Given the description of an element on the screen output the (x, y) to click on. 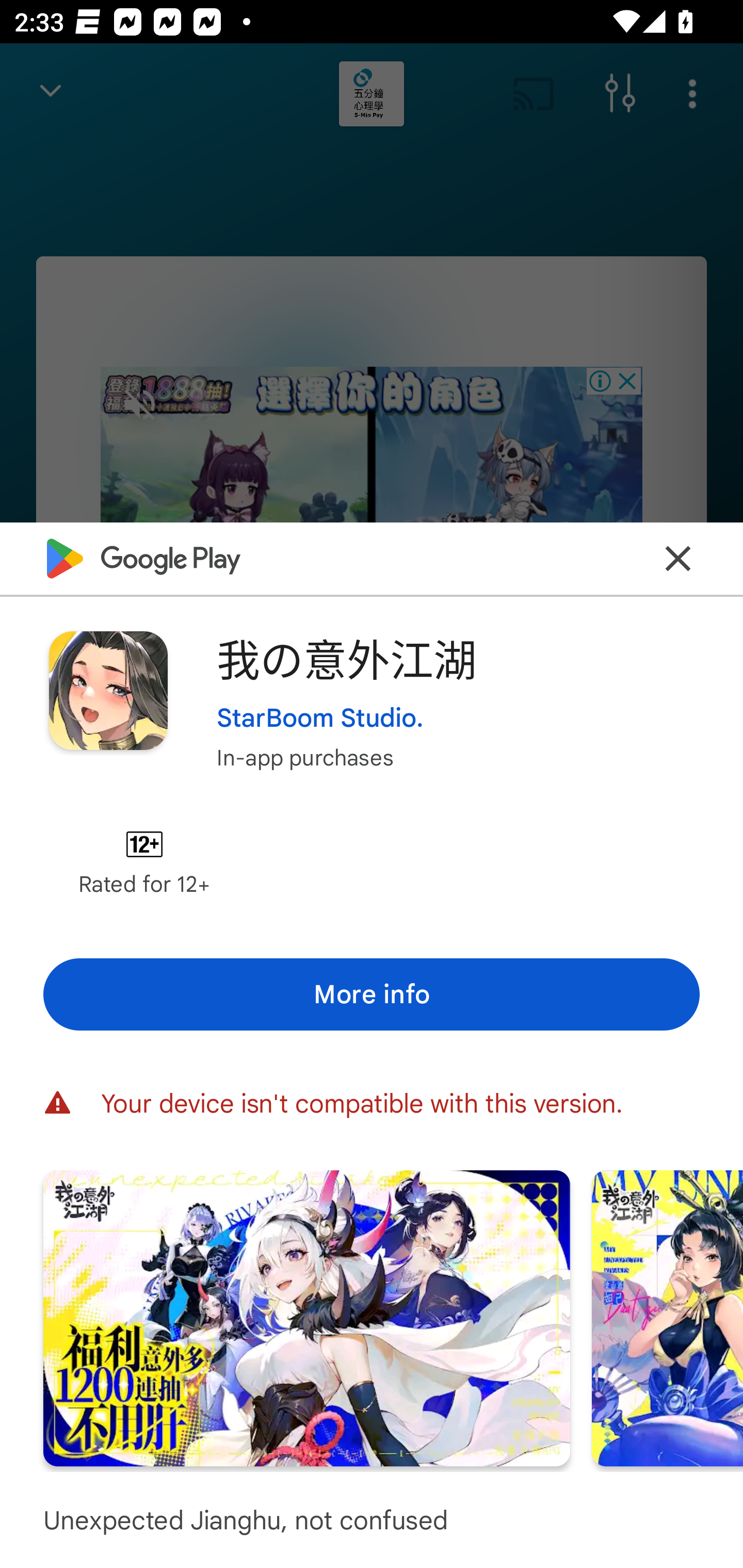
Close (677, 558)
Image of app or game icon for 我の意外江湖 (108, 690)
StarBoom Studio. (320, 716)
More info (371, 994)
Screenshot "1" of "5" (306, 1317)
